Given the description of an element on the screen output the (x, y) to click on. 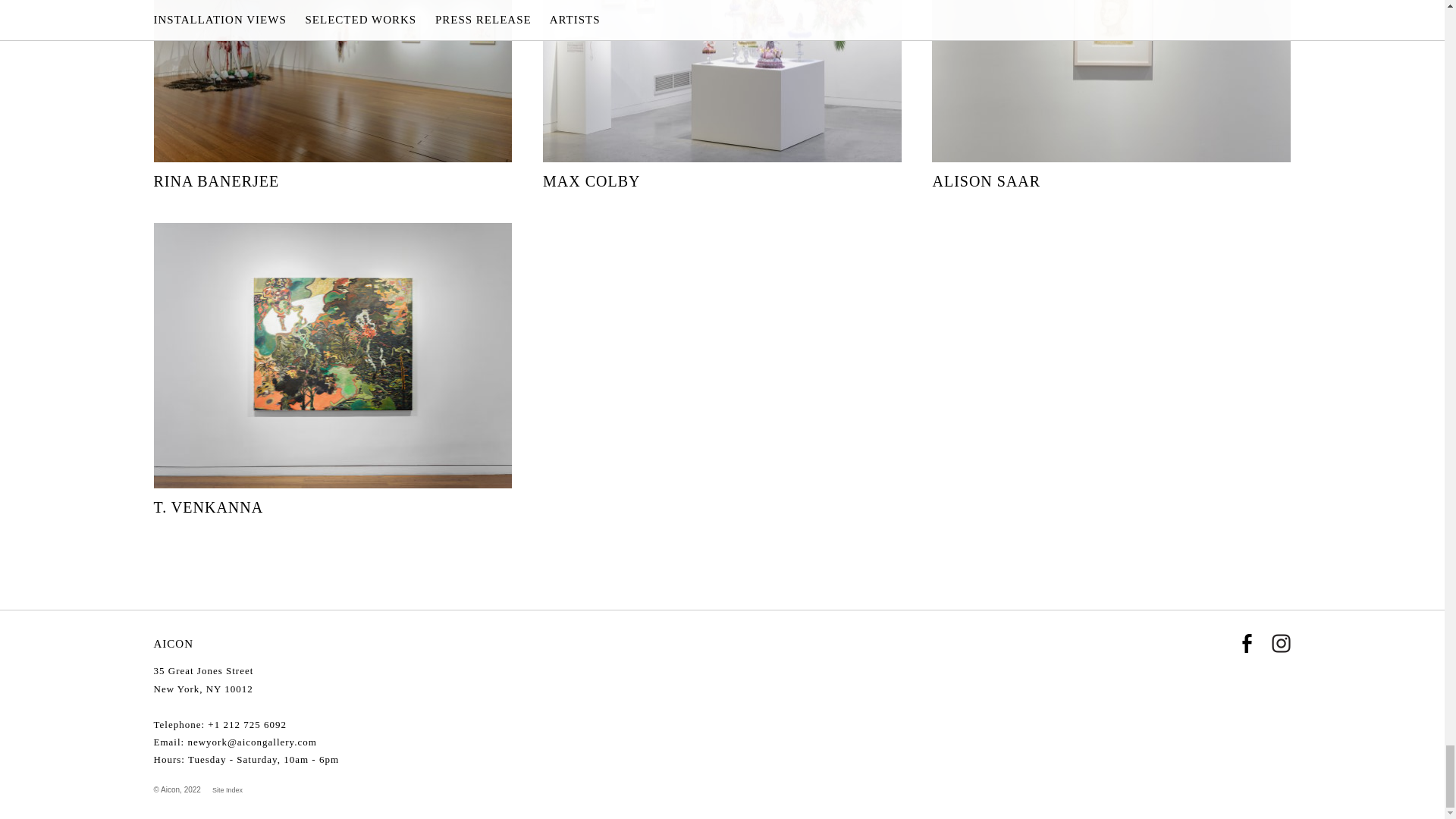
T. VENKANNA (332, 370)
RINA BANERJEE (332, 96)
MAX COLBY (722, 96)
ALISON SAAR (1110, 96)
